Given the description of an element on the screen output the (x, y) to click on. 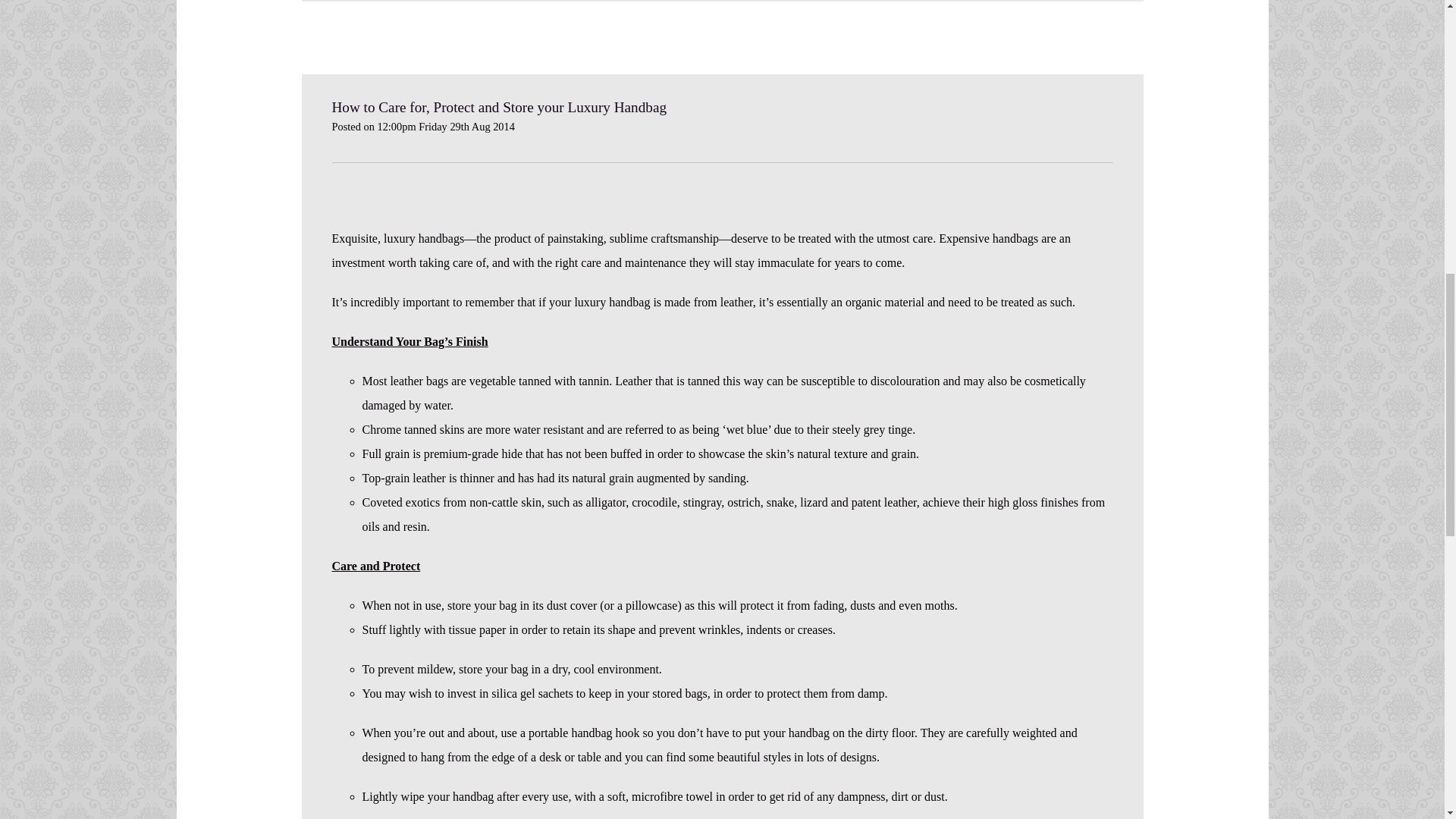
silica gel (513, 693)
